Given the description of an element on the screen output the (x, y) to click on. 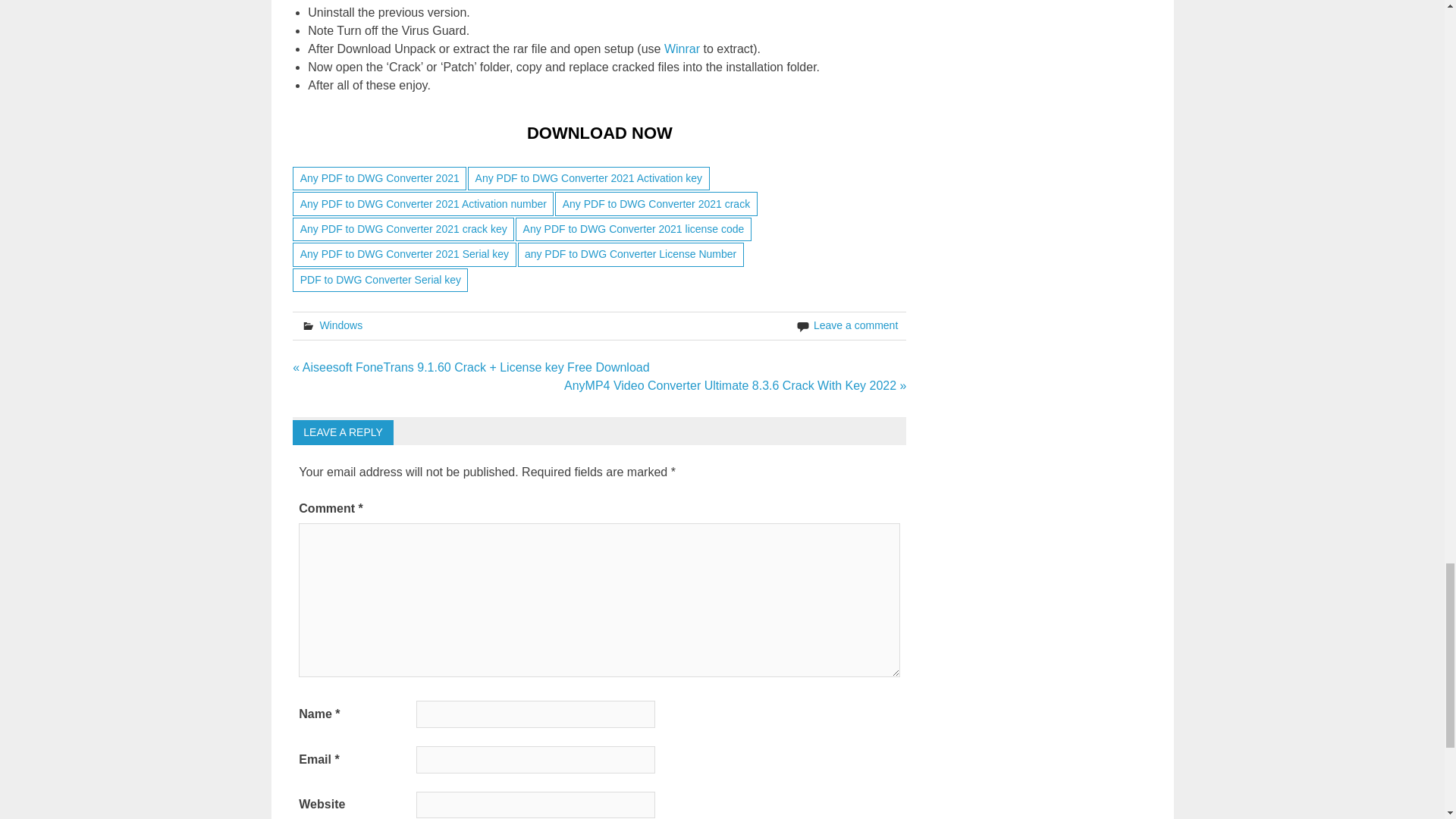
Windows (340, 325)
Download Now (599, 133)
Any PDF to DWG Converter 2021 license code (633, 228)
Any PDF to DWG Converter 2021 crack key (402, 228)
any PDF to DWG Converter License Number (631, 254)
Winrar (681, 48)
Leave a comment (855, 325)
Any PDF to DWG Converter 2021 Serial key (403, 254)
Any PDF to DWG Converter 2021 Activation key (588, 178)
Any PDF to DWG Converter 2021 crack (655, 203)
PDF to DWG Converter Serial key (379, 279)
Download Now (599, 133)
Any PDF to DWG Converter 2021 Activation number (422, 203)
Any PDF to DWG Converter 2021 (378, 178)
